Given the description of an element on the screen output the (x, y) to click on. 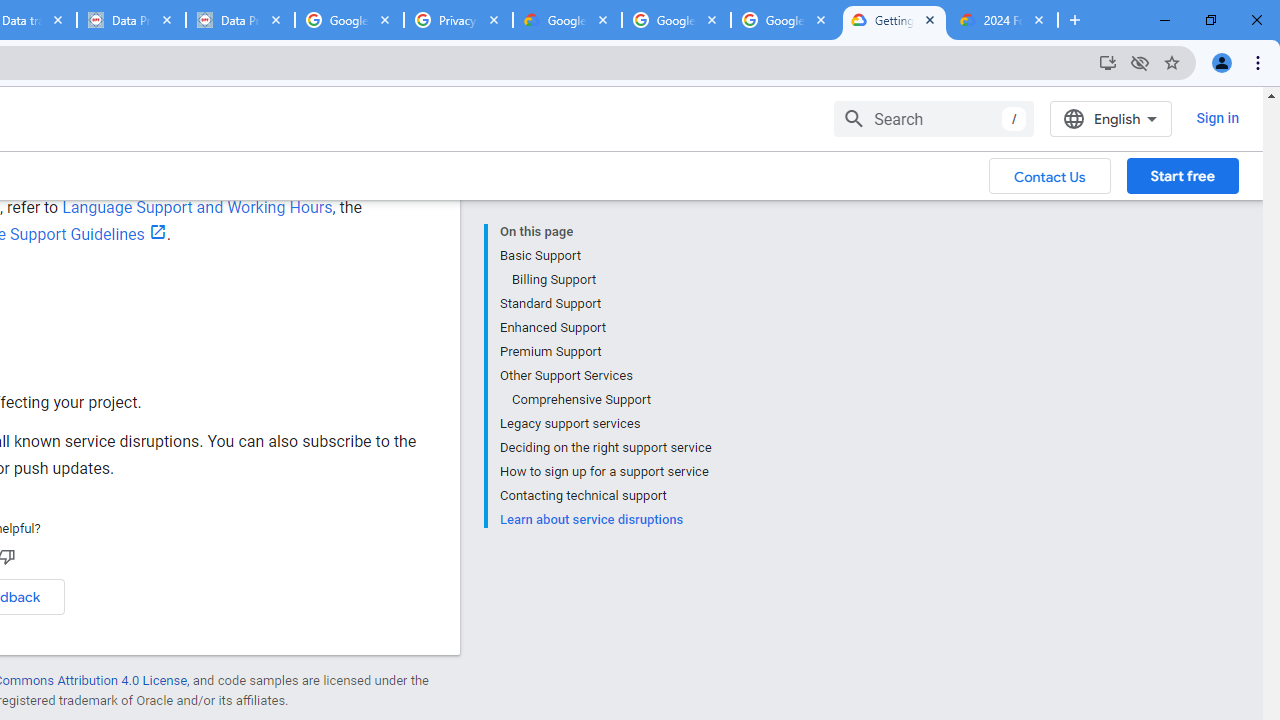
Deciding on the right support service (605, 448)
Language Support and Working Hours (196, 207)
Install Google Cloud (1107, 62)
Learn about service disruptions (605, 517)
